Given the description of an element on the screen output the (x, y) to click on. 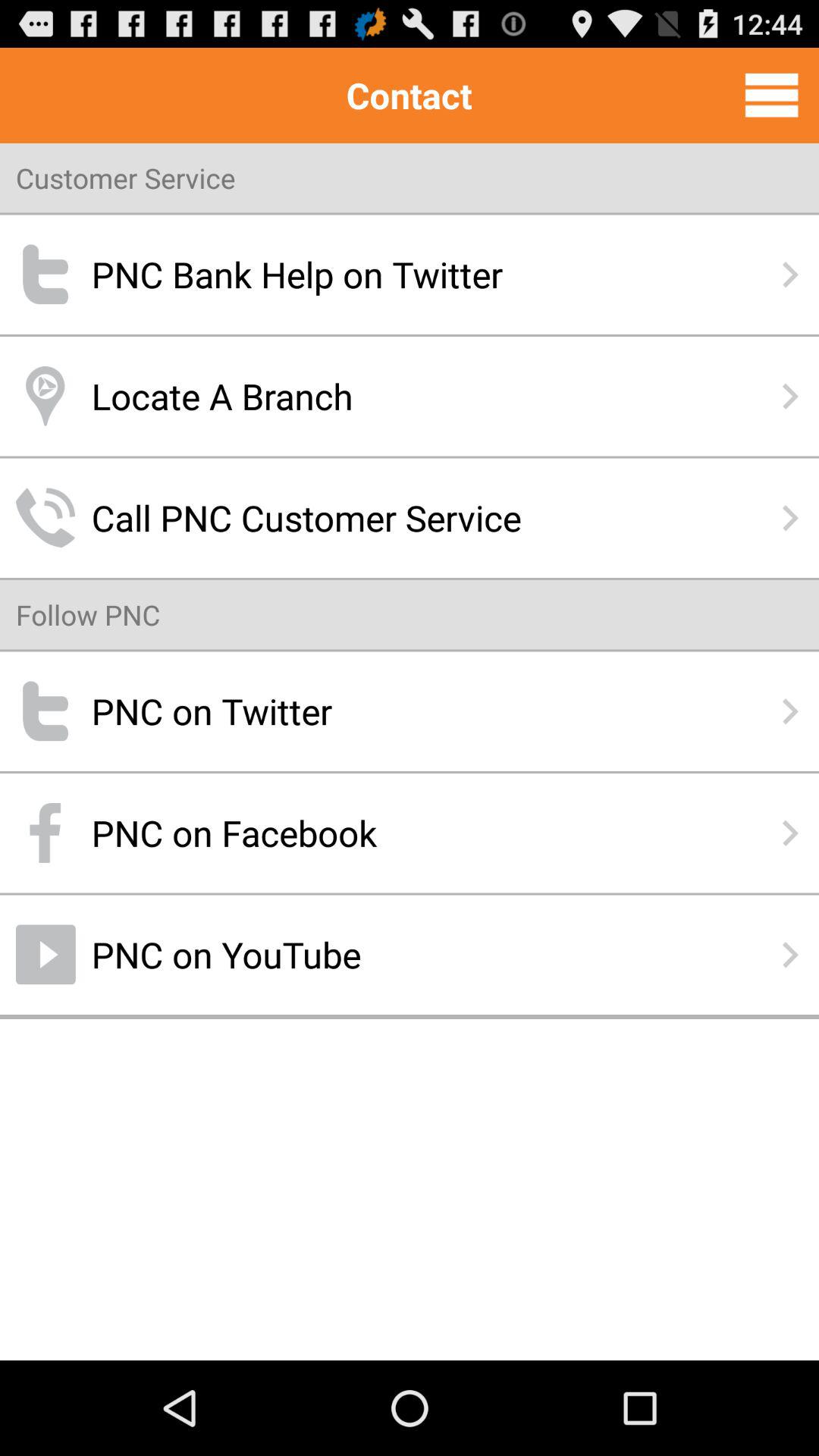
click the icon above the call pnc customer (409, 396)
